Given the description of an element on the screen output the (x, y) to click on. 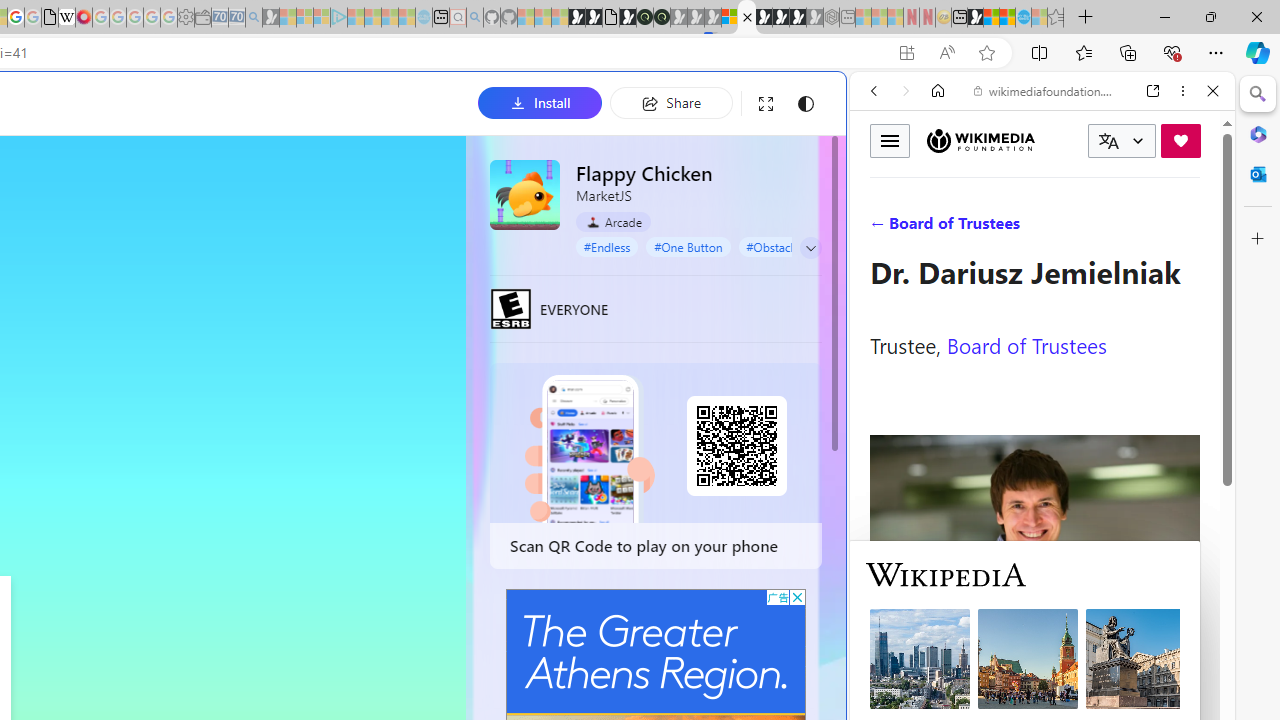
SEARCH TOOLS (1093, 228)
Search Filter, Search Tools (1093, 228)
Arcade (613, 221)
Play Free Online Games | Games from Microsoft Start (763, 17)
Bing Real Estate - Home sales and rental listings - Sleeping (253, 17)
Wiktionary (1034, 669)
Web scope (882, 180)
Arcade (613, 222)
Play Zoo Boom in your browser | Games from Microsoft Start (593, 17)
